Given the description of an element on the screen output the (x, y) to click on. 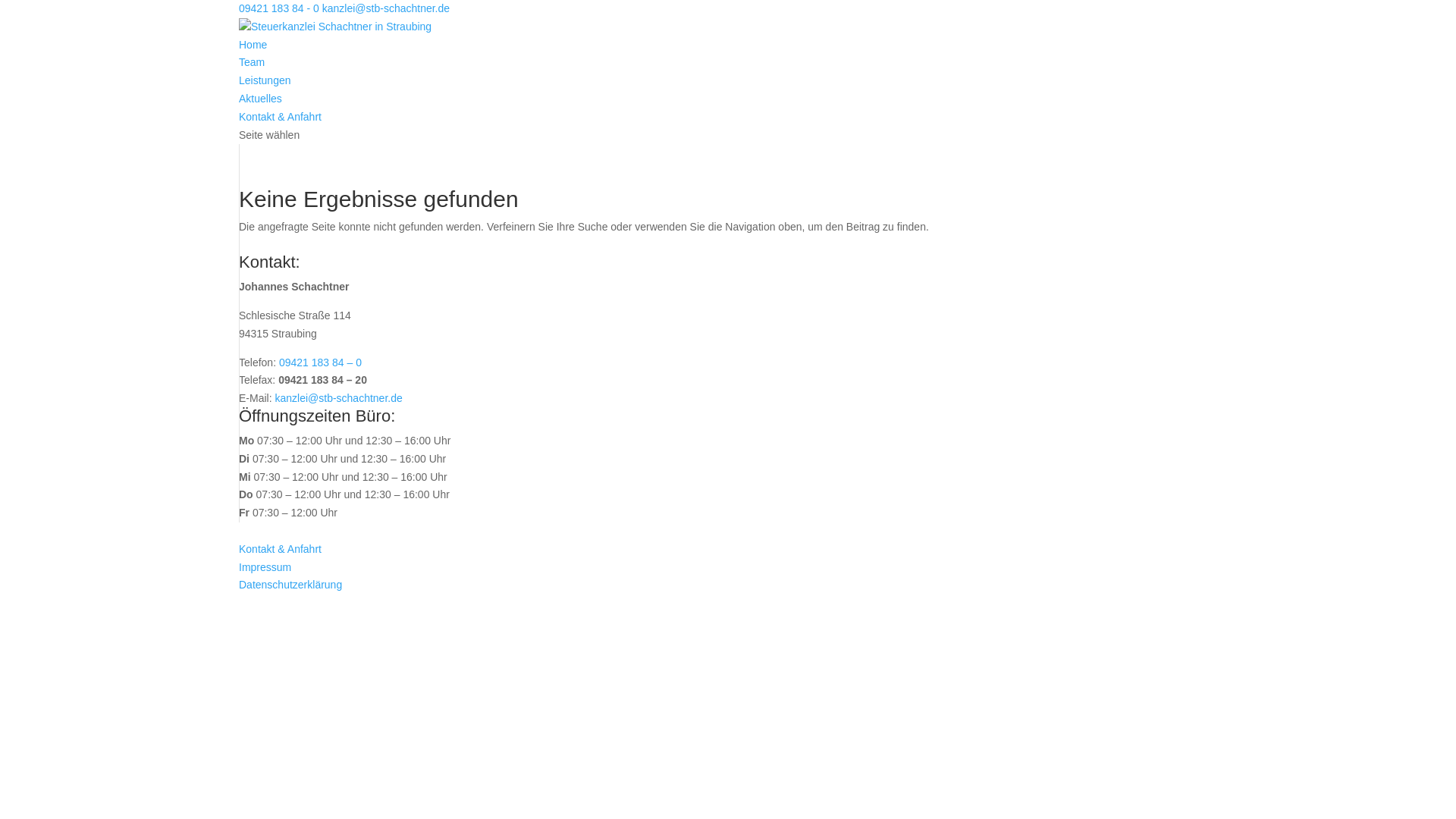
kanzlei@stb-schachtner.de Element type: text (337, 398)
09421 183 84 - 0 Element type: text (278, 8)
Kontakt & Anfahrt Element type: text (279, 548)
Leistungen Element type: text (264, 80)
Team Element type: text (251, 62)
kanzlei@stb-schachtner.de Element type: text (385, 8)
Impressum Element type: text (264, 567)
Aktuelles Element type: text (260, 98)
Home Element type: text (252, 44)
Kontakt & Anfahrt Element type: text (279, 116)
